Given the description of an element on the screen output the (x, y) to click on. 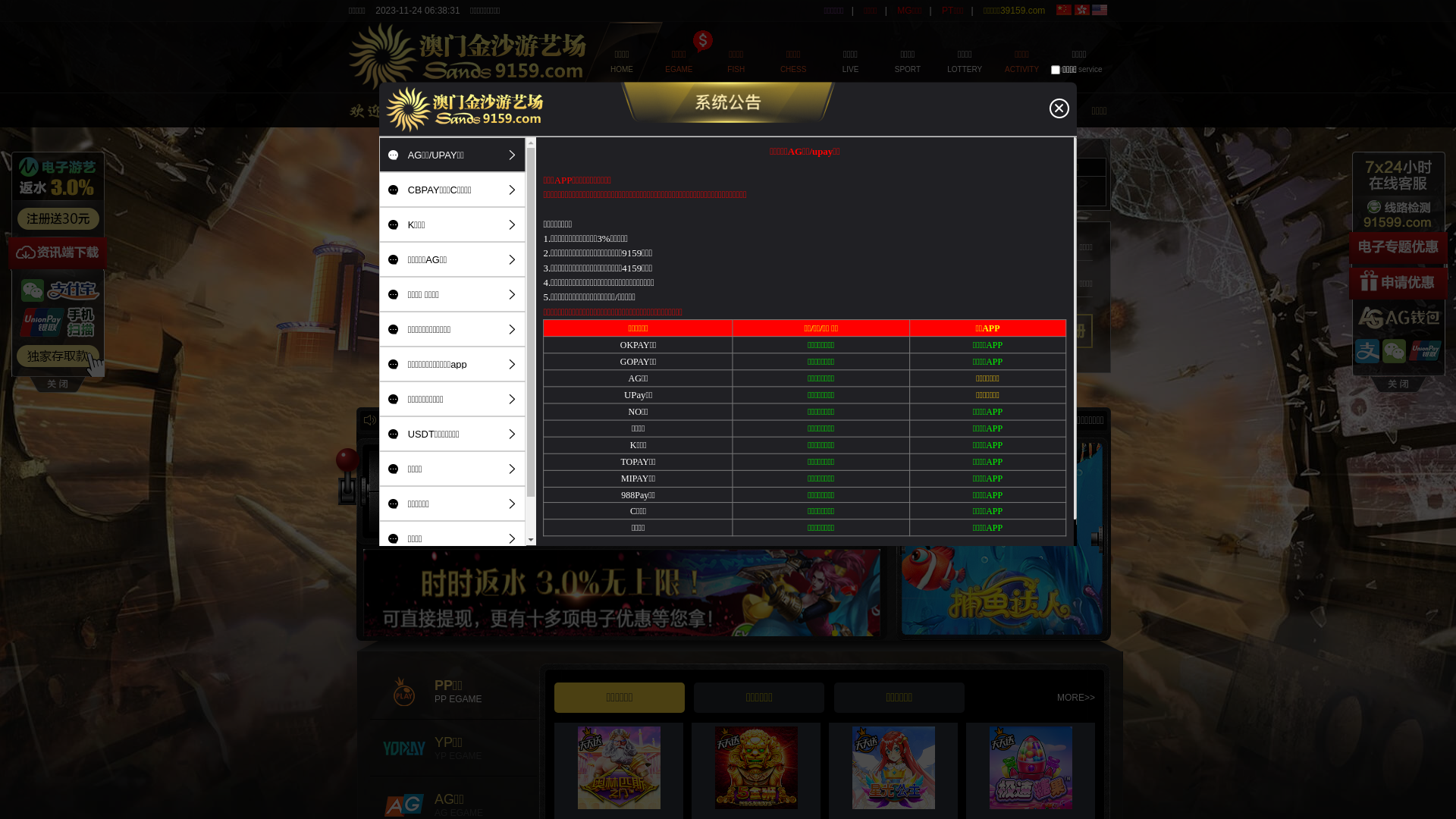
English Element type: hover (1099, 9)
